Given the description of an element on the screen output the (x, y) to click on. 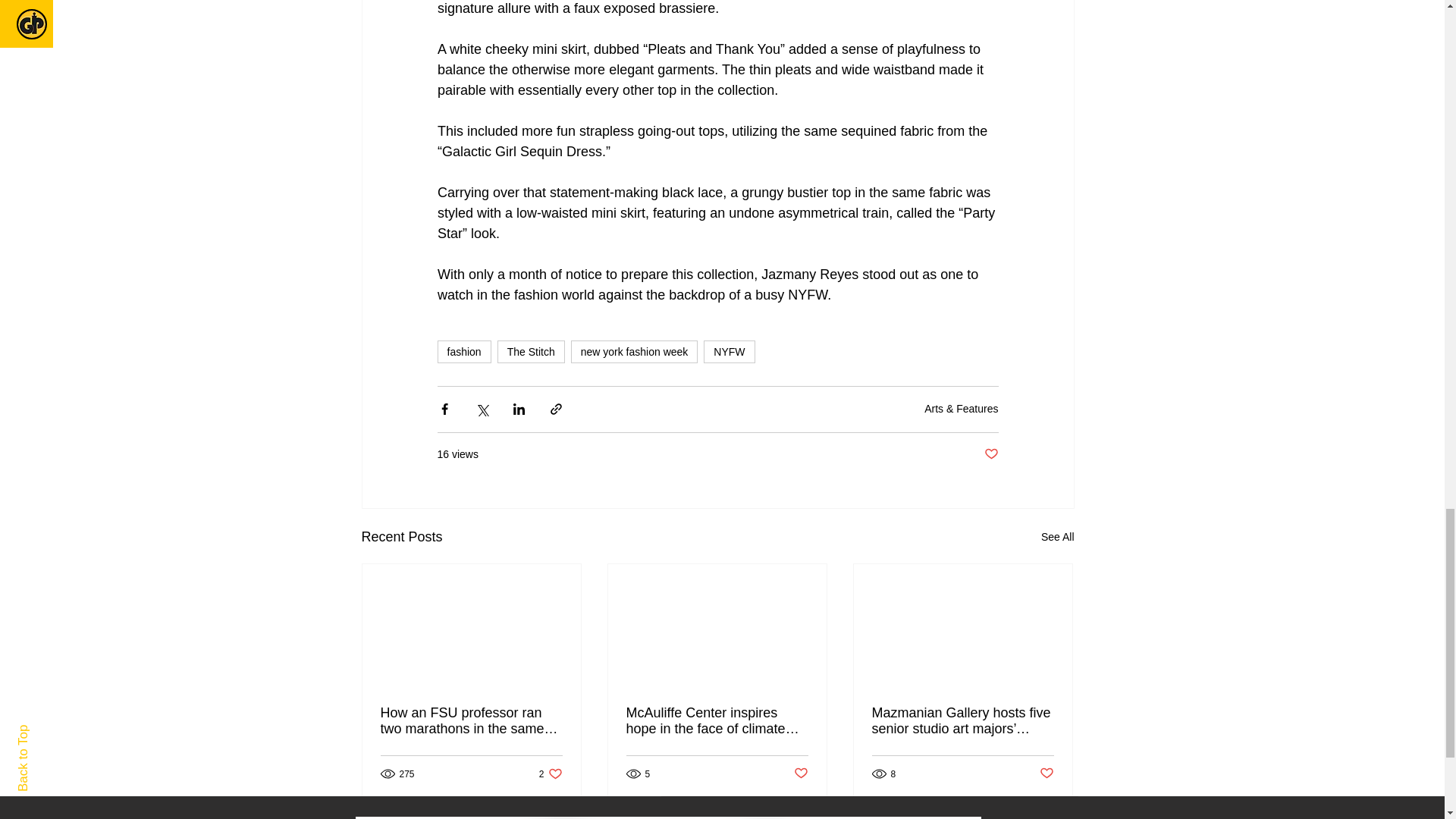
The Stitch (550, 773)
NYFW (530, 351)
Post not marked as liked (728, 351)
Post not marked as liked (991, 454)
How an FSU professor ran two marathons in the same week (1045, 773)
Post not marked as liked (471, 721)
McAuliffe Center inspires hope in the face of climate change (800, 773)
See All (717, 721)
fashion (1057, 536)
new york fashion week (463, 351)
